Given the description of an element on the screen output the (x, y) to click on. 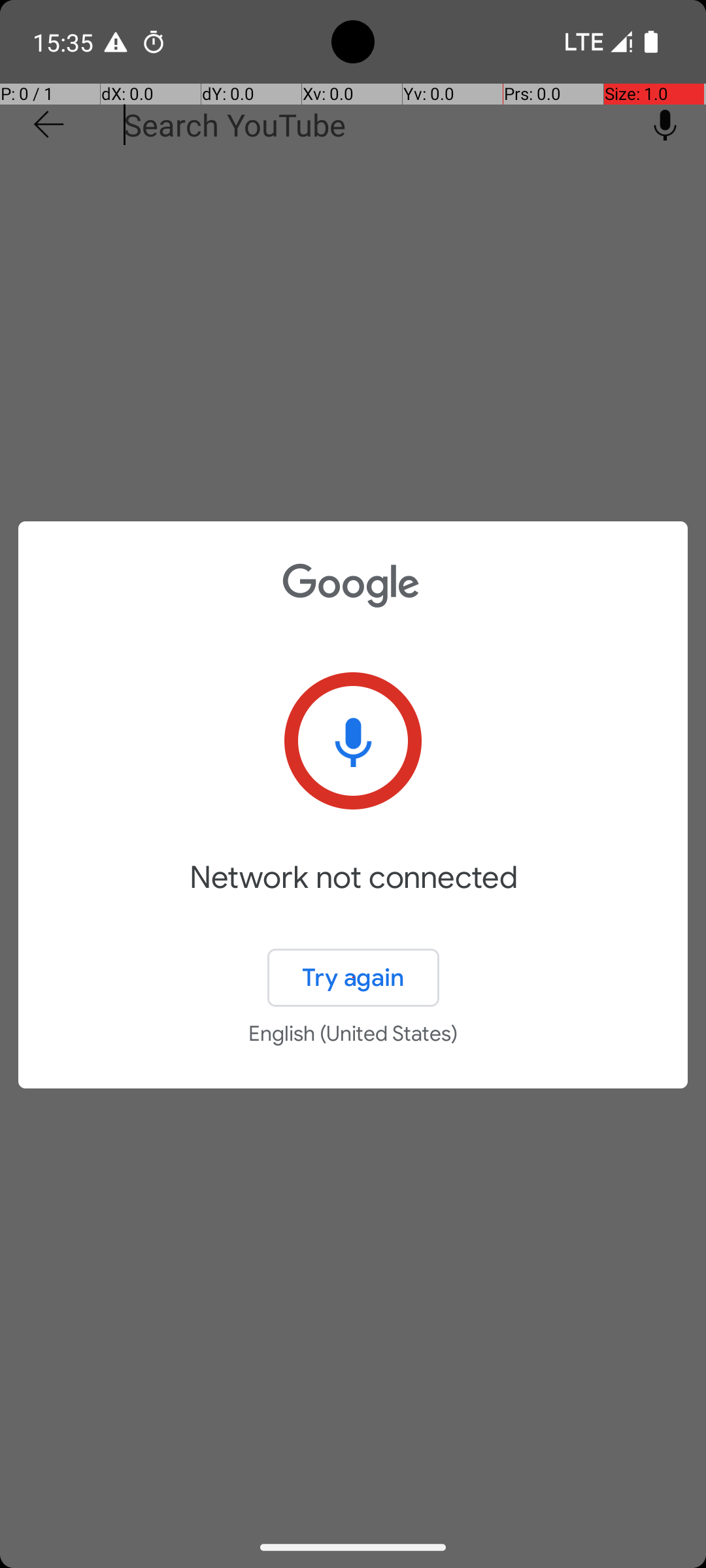
Network not connected Element type: android.widget.TextView (352, 895)
Try again Element type: android.widget.Button (353, 977)
